Given the description of an element on the screen output the (x, y) to click on. 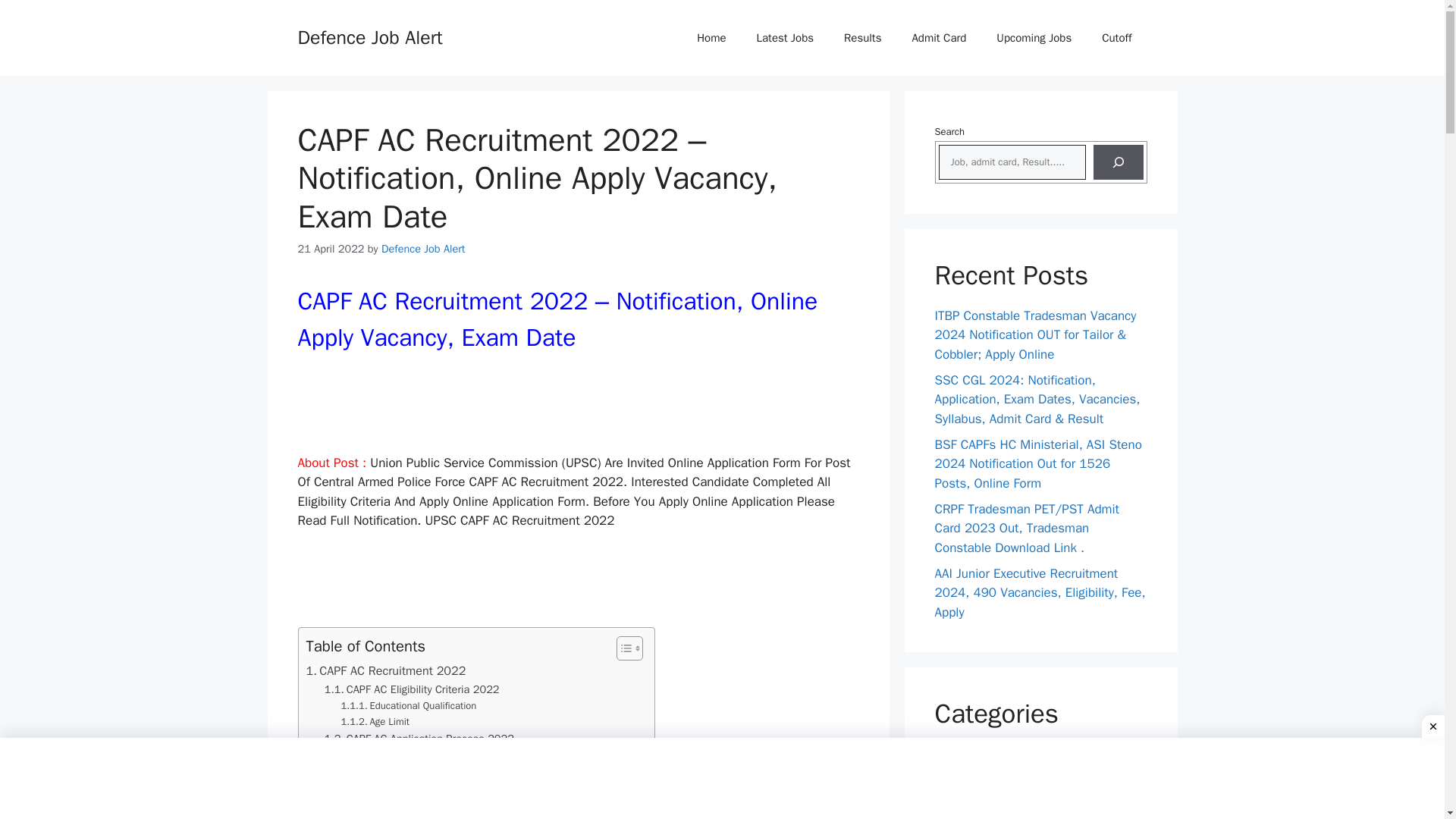
View all posts by Defence Job Alert (422, 248)
Home (711, 37)
Upcoming Jobs (1033, 37)
Cutoff (1116, 37)
Defence Job Alert (422, 248)
Admit Card (964, 754)
Results (862, 37)
Admit Card (938, 37)
CAPF AC Application Process 2022 (418, 738)
Age Limit (374, 722)
Answer Key (966, 779)
UPSC CAPF Assistant Commandant 2022 Selection Process (479, 755)
Age Limit (374, 722)
Defence Job Alert (369, 37)
